Given the description of an element on the screen output the (x, y) to click on. 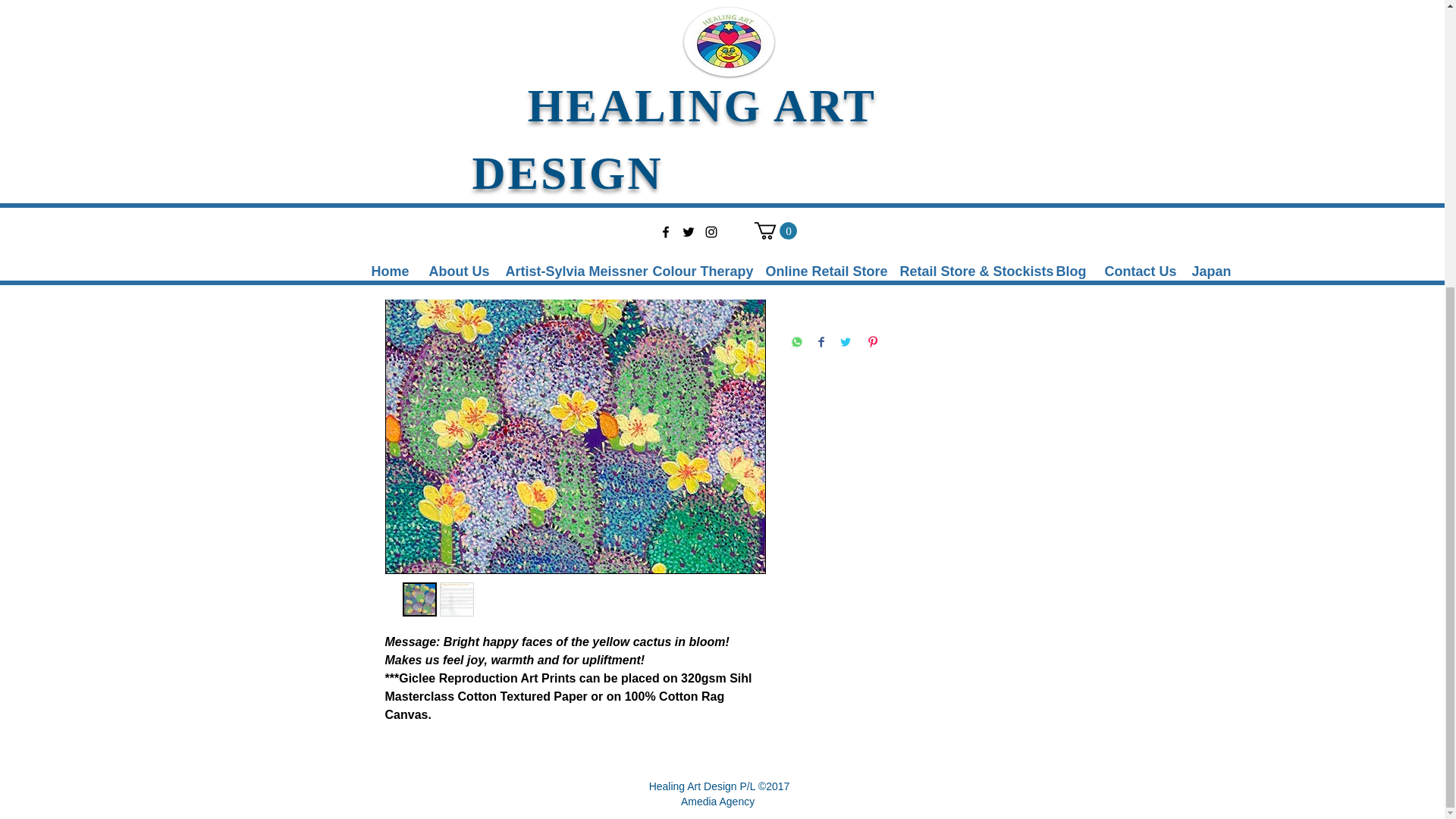
1 (823, 130)
Add to Cart (924, 188)
Postage (924, 247)
